Given the description of an element on the screen output the (x, y) to click on. 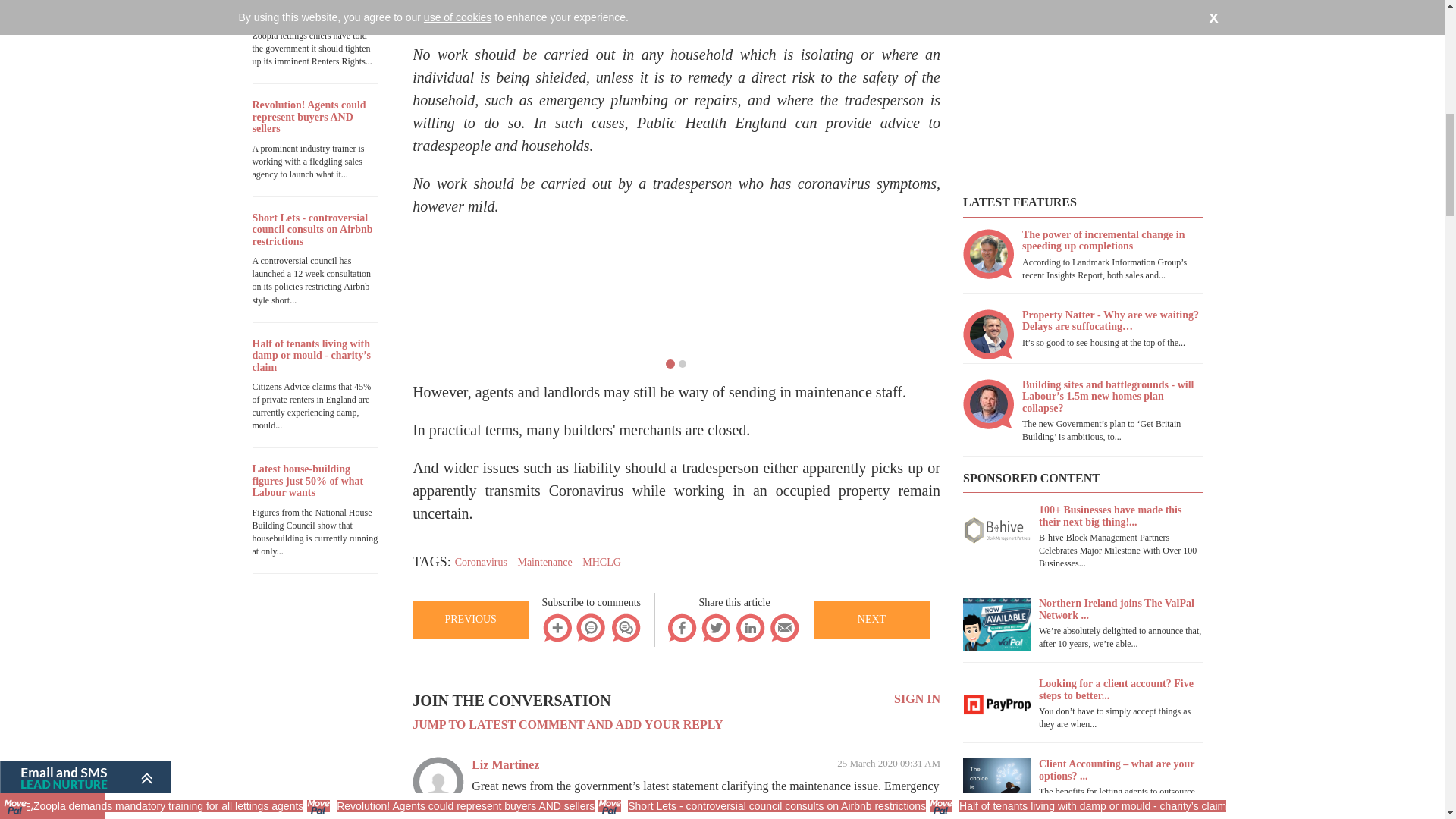
Faceboook (681, 627)
Share with a friend (783, 627)
Linkedin (750, 627)
Facebook (681, 627)
Save for later (556, 627)
Subscribe to comment (591, 627)
Subscribe to all comments (625, 627)
Subscribe to comment (591, 627)
Twitter (715, 627)
Save for later (556, 627)
Twitter (715, 627)
Linkedin (750, 627)
Share with a friend (783, 627)
Subscribe to all comments (625, 627)
